Given the description of an element on the screen output the (x, y) to click on. 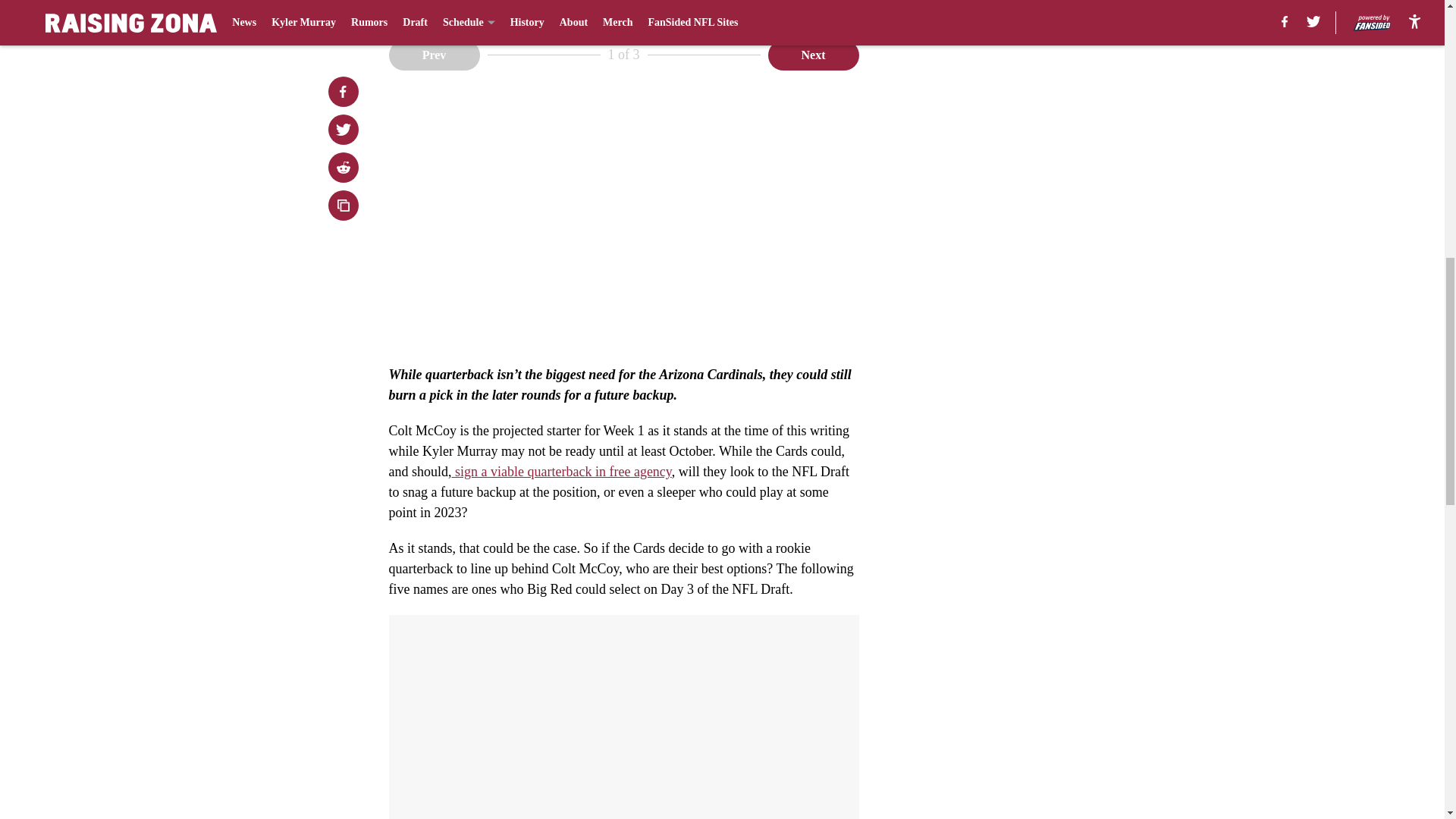
Prev (433, 54)
sign a viable quarterback in free agency (561, 471)
Next (813, 54)
